Given the description of an element on the screen output the (x, y) to click on. 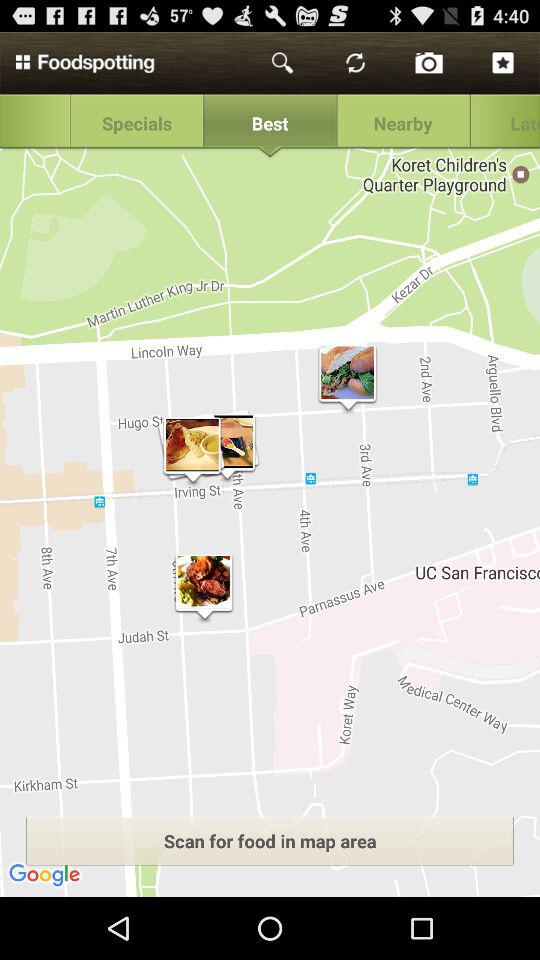
click on the button above google (269, 840)
click on the button next to specials (269, 124)
click on search icon next to foodspotting (283, 63)
click on third icon from the top right corner (356, 63)
